Given the description of an element on the screen output the (x, y) to click on. 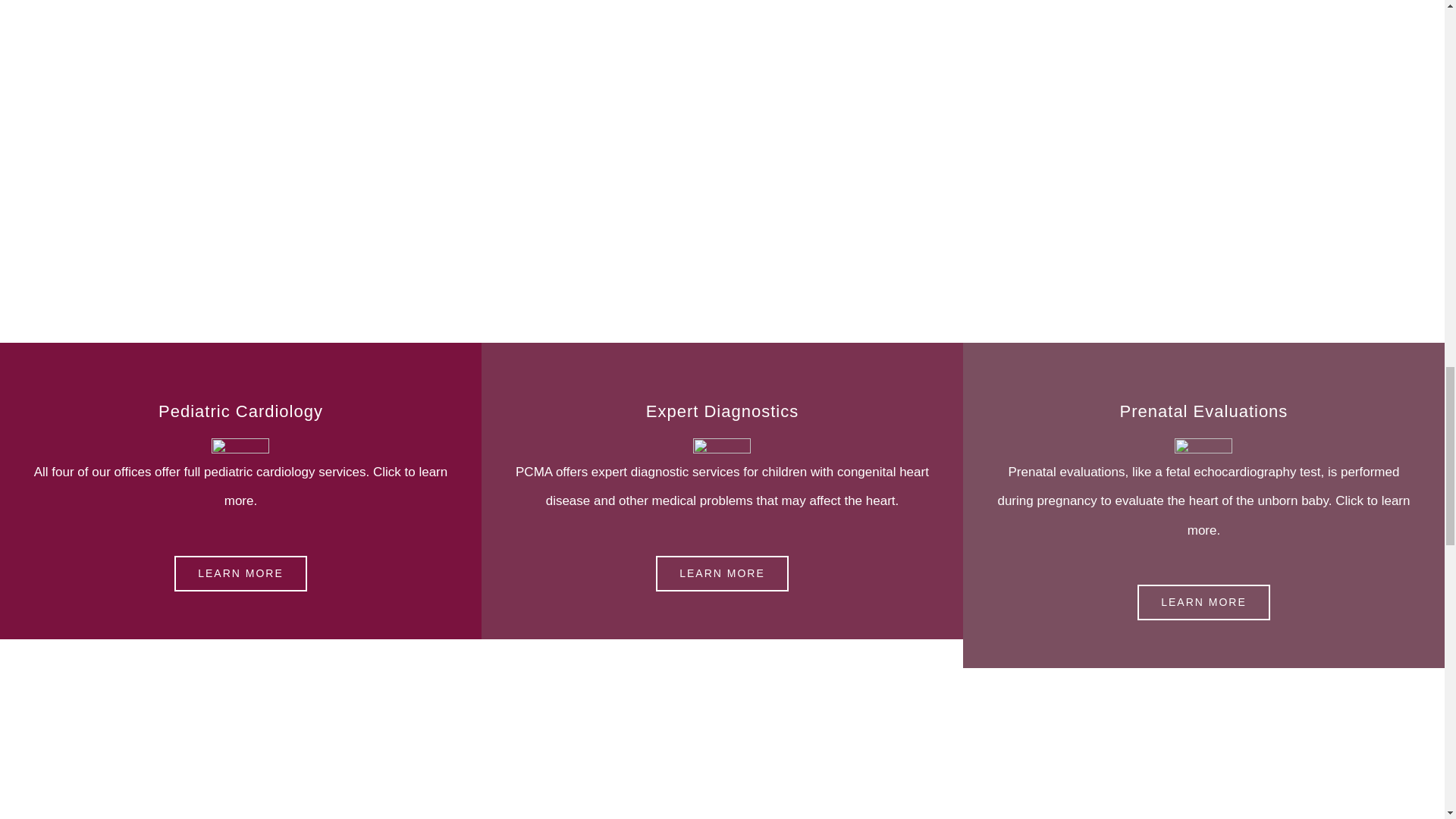
LEARN MORE (722, 573)
LEARN MORE (240, 573)
wave-divider (722, 447)
wave-divider (240, 447)
wave-divider (1202, 447)
LEARN MORE (1203, 601)
